Given the description of an element on the screen output the (x, y) to click on. 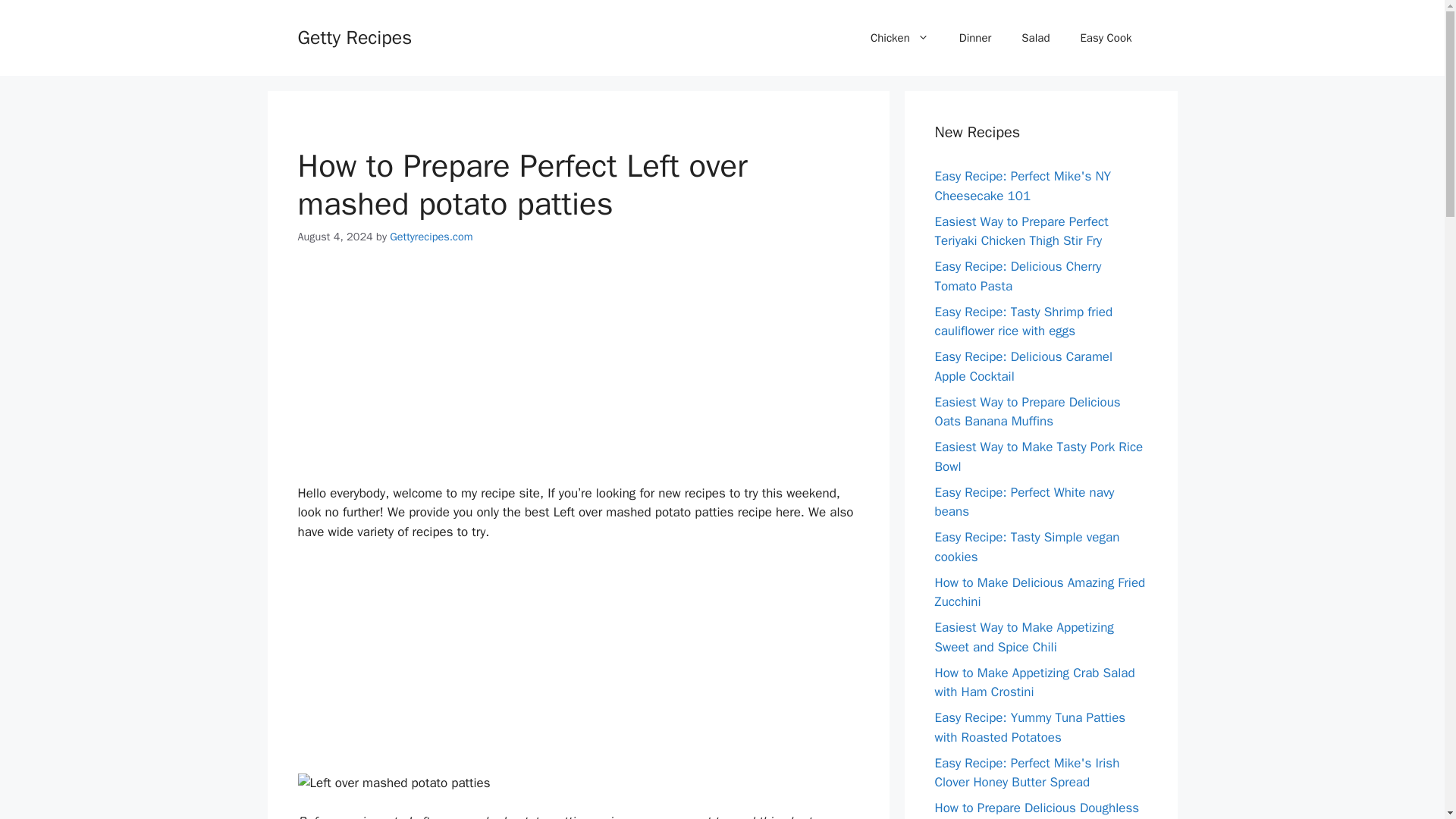
Easy Recipe: Delicious Cherry Tomato Pasta (1017, 276)
Advertisement (578, 377)
View all posts by Gettyrecipes.com (430, 236)
Gettyrecipes.com (430, 236)
Salad (1035, 37)
Chicken (899, 37)
Easy Recipe: Delicious Caramel Apple Cocktail (1023, 366)
Advertisement (578, 667)
Easy Recipe: Tasty Shrimp fried cauliflower rice with eggs (1023, 321)
